Given the description of an element on the screen output the (x, y) to click on. 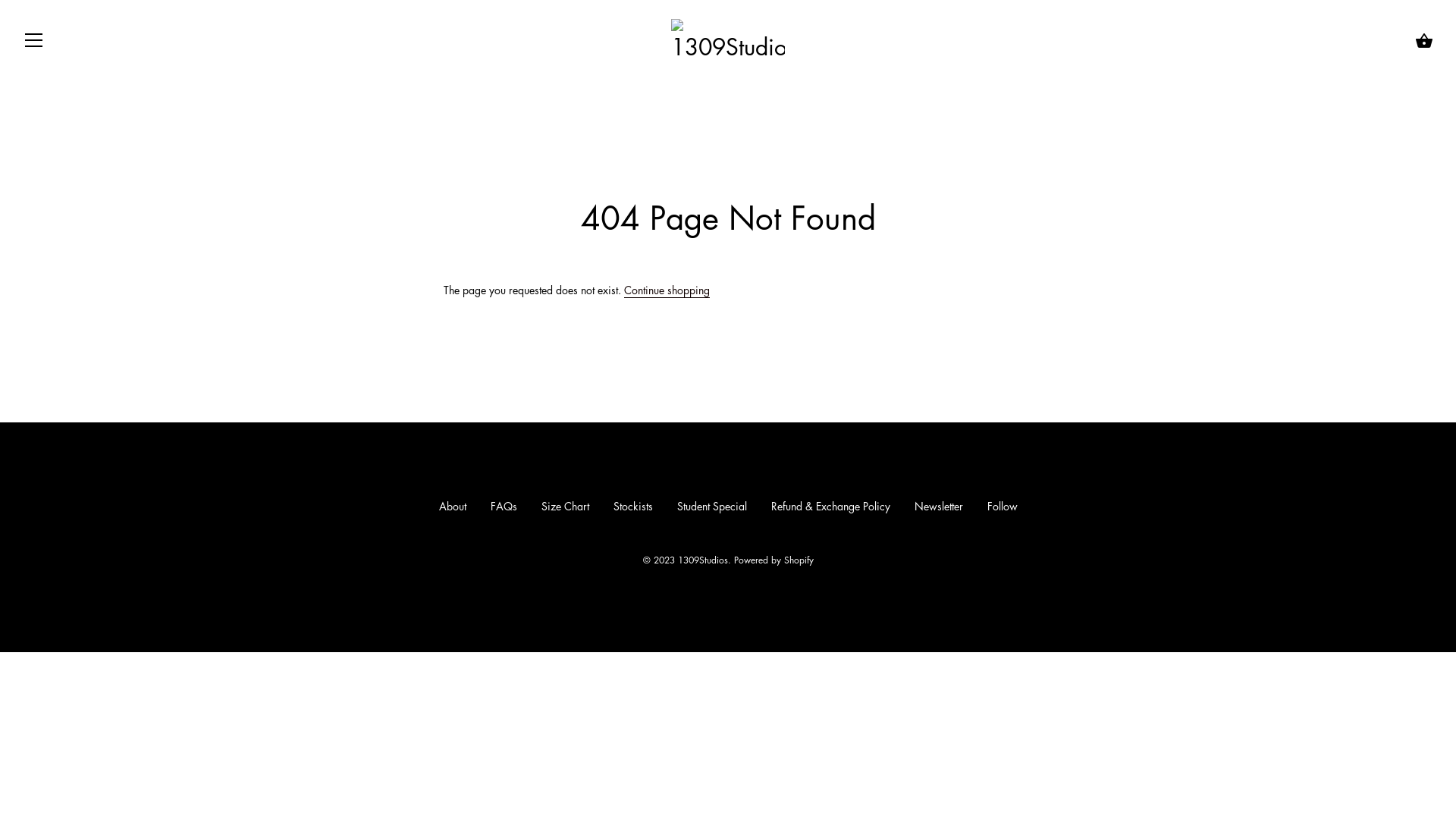
Powered by Shopify Element type: text (773, 559)
Stockists Element type: text (632, 505)
Continue shopping Element type: text (666, 290)
Size Chart Element type: text (565, 505)
Cart Element type: text (1424, 40)
1309Studios Element type: text (702, 559)
Newsletter Element type: text (938, 505)
About Element type: text (451, 505)
FAQs Element type: text (502, 505)
Refund & Exchange Policy Element type: text (829, 505)
Follow Element type: text (1002, 505)
Student Special Element type: text (711, 505)
